Given the description of an element on the screen output the (x, y) to click on. 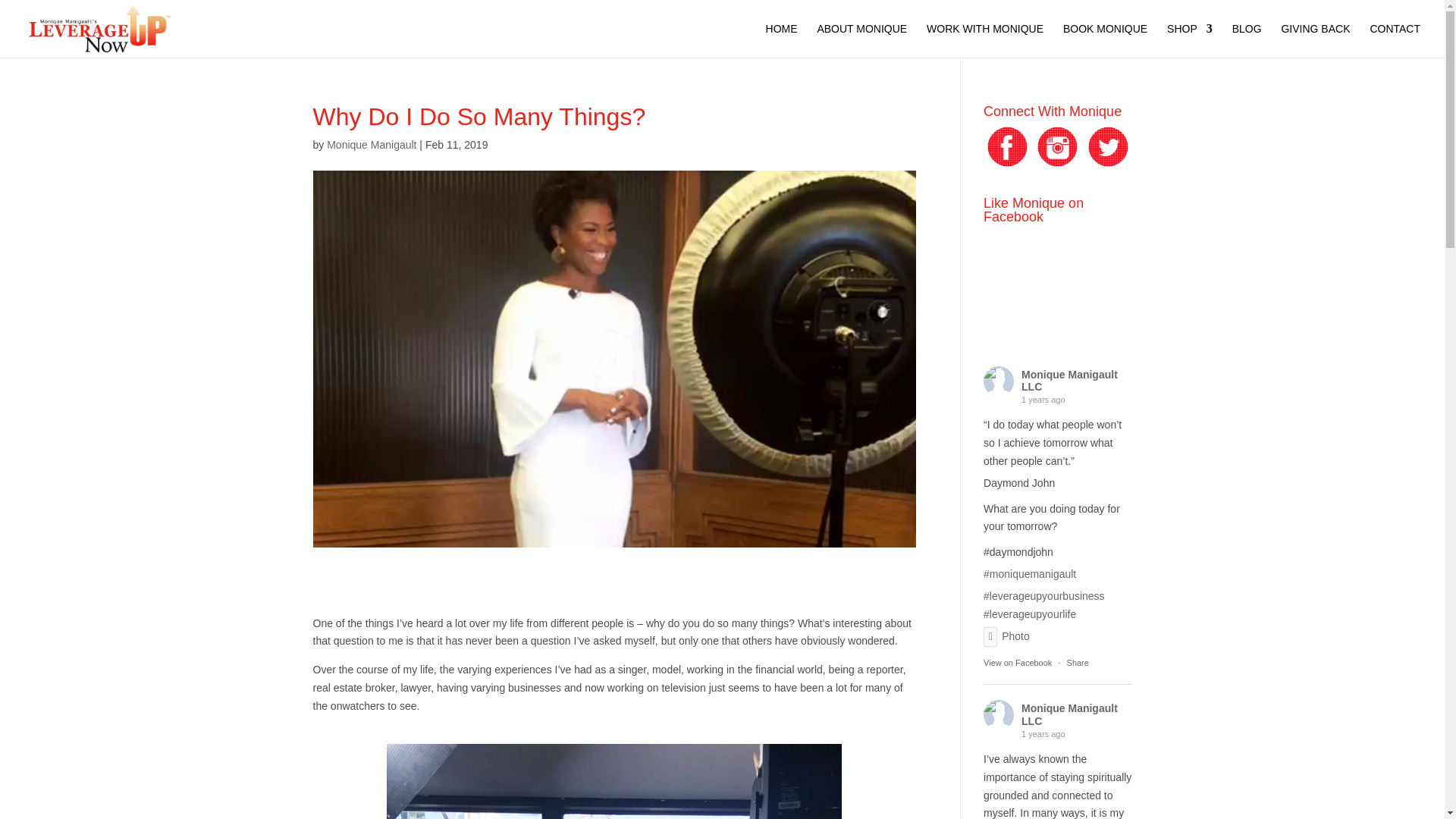
GIVING BACK (1315, 40)
BOOK MONIQUE (1104, 40)
View on Facebook (1017, 662)
HOME (781, 40)
View on Facebook (1017, 662)
Monique Manigault LLC (1070, 380)
WORK WITH MONIQUE (984, 40)
CONTACT (1395, 40)
Monique Manigault LLC (998, 381)
Posts by Monique Manigault (371, 144)
SHOP (1189, 40)
ABOUT MONIQUE (861, 40)
Monique Manigault LLC (998, 715)
Share (1078, 662)
Monique Manigault (371, 144)
